Given the description of an element on the screen output the (x, y) to click on. 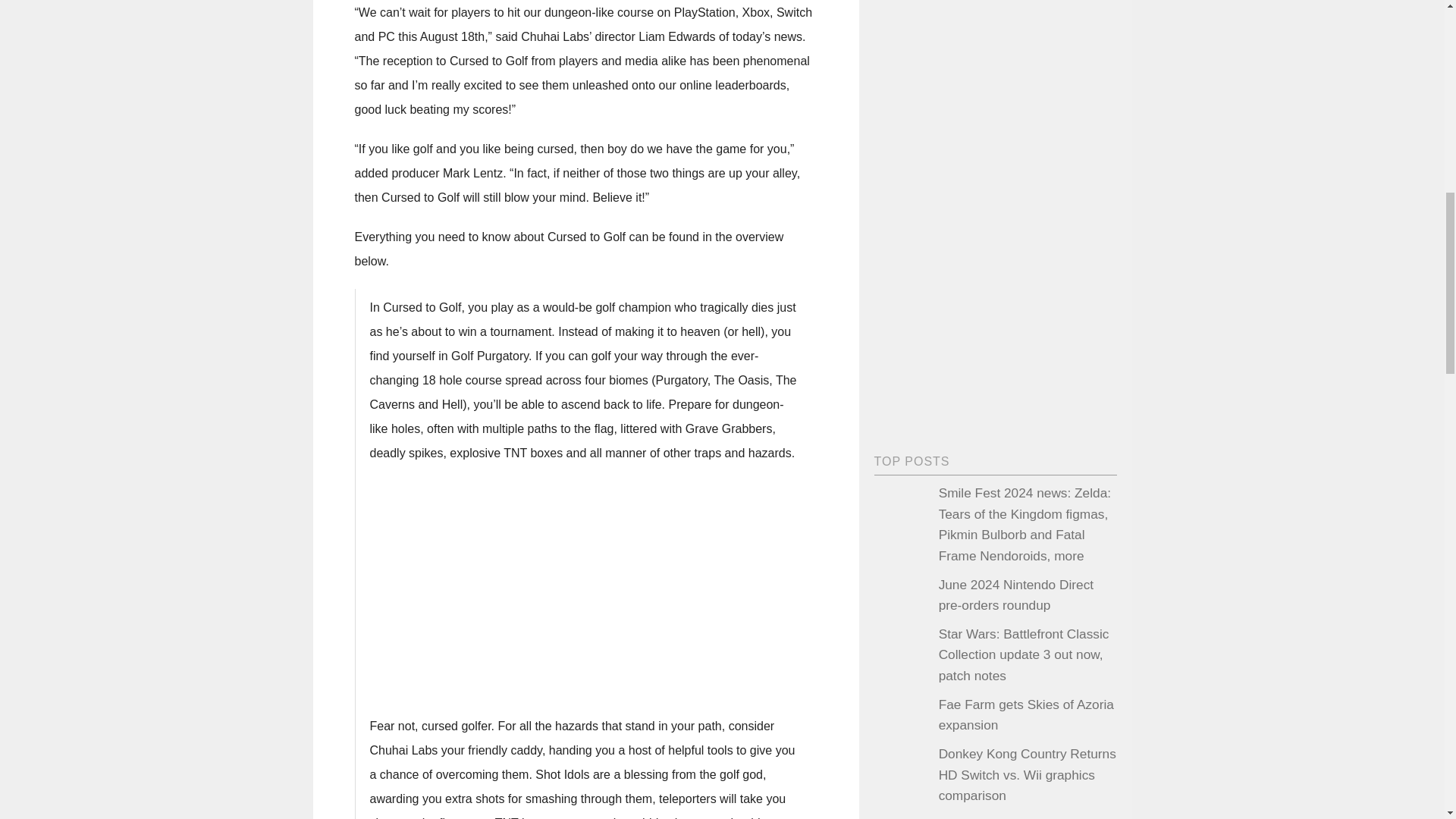
June 2024 Nintendo Direct pre-orders roundup (1016, 595)
